Given the description of an element on the screen output the (x, y) to click on. 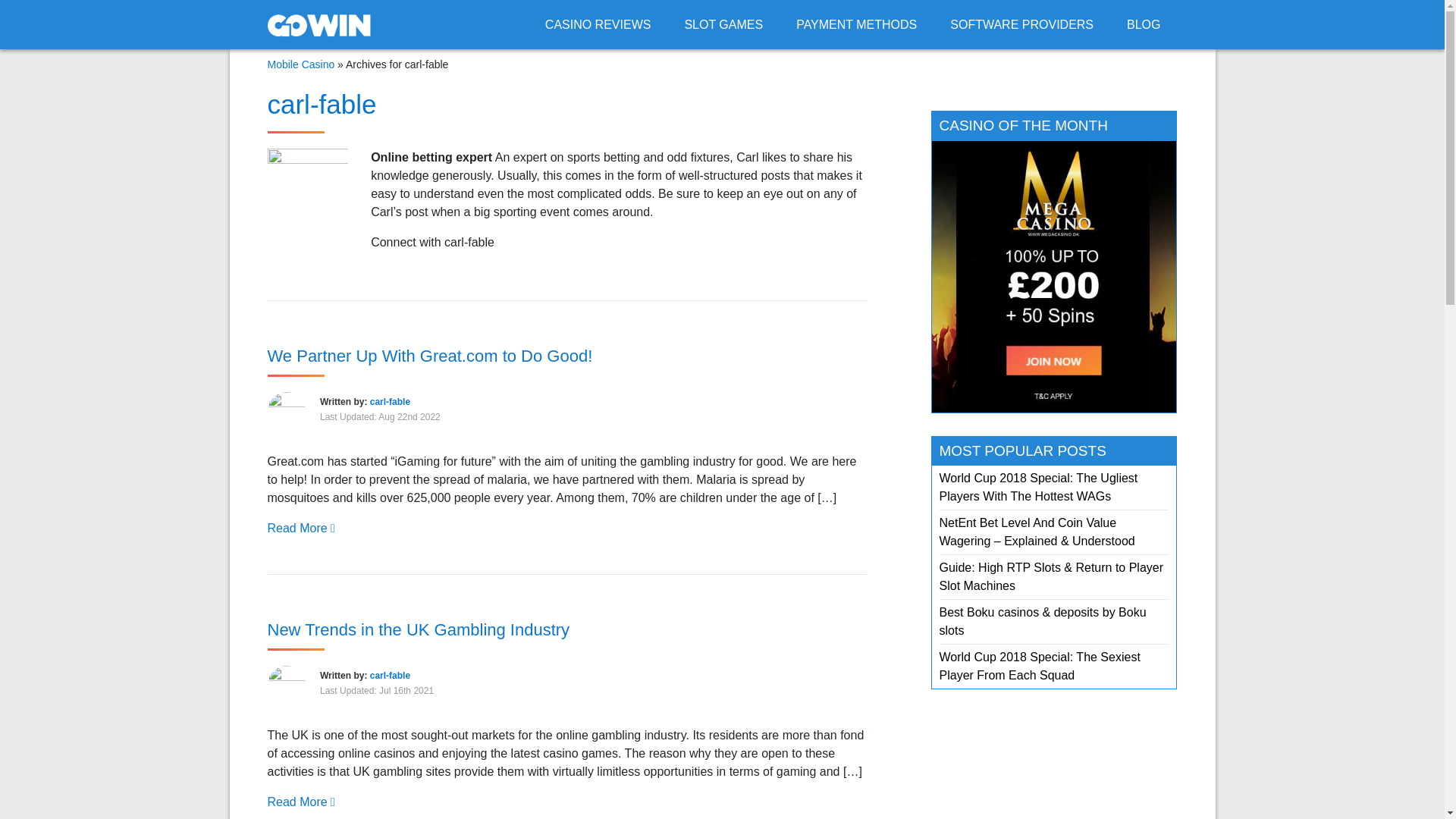
SOFTWARE PROVIDERS (1021, 24)
CASINO REVIEWS (597, 24)
Mobile Casino (300, 64)
New Trends in the UK Gambling Industry (417, 629)
Read More (300, 800)
We Partner Up With Great.com to Do Good! (429, 354)
PAYMENT METHODS (856, 24)
carl-fable (389, 675)
